Given the description of an element on the screen output the (x, y) to click on. 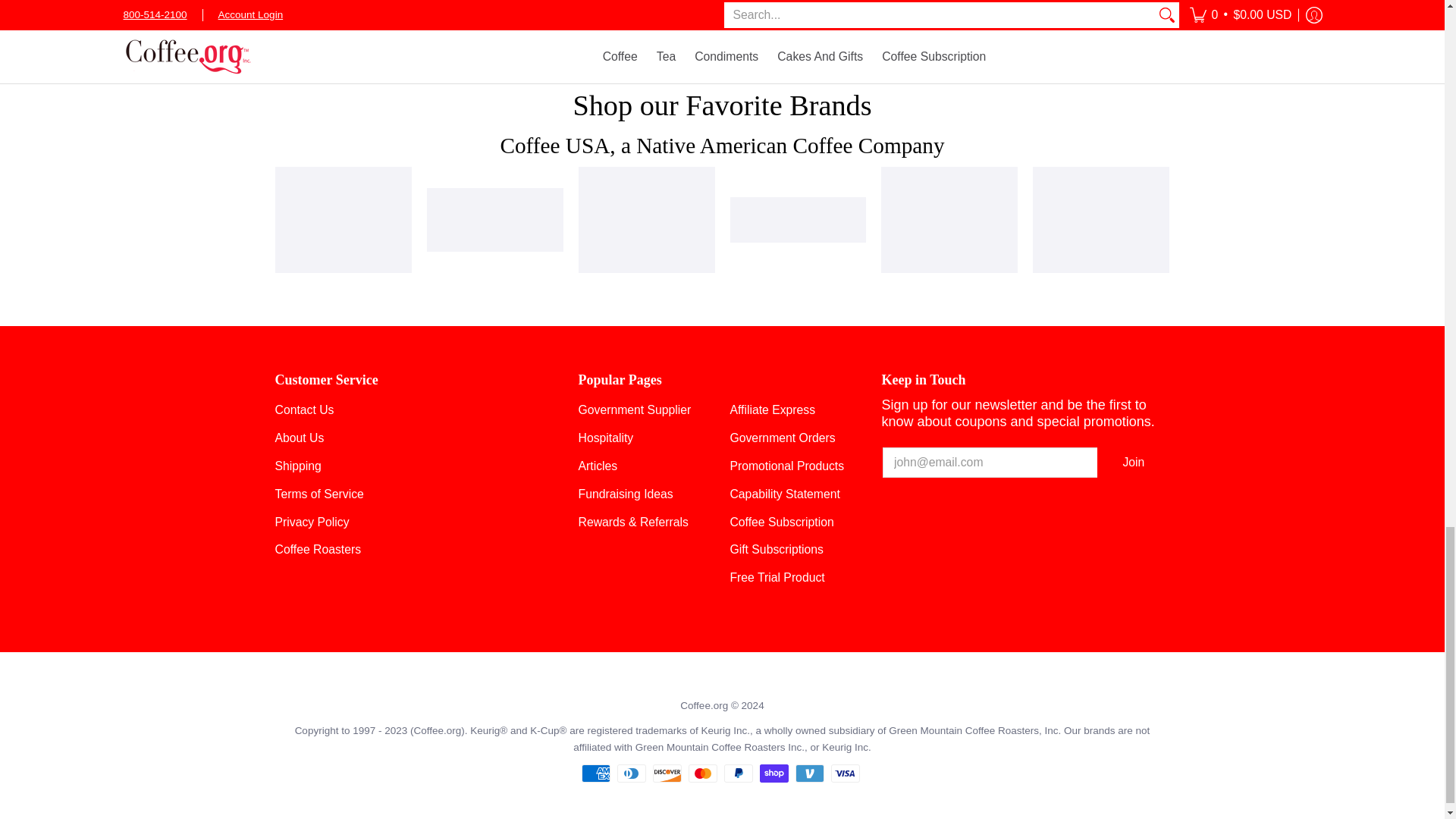
PayPal (737, 773)
Venmo (809, 773)
Mastercard (702, 773)
American Express (595, 773)
Discover (666, 773)
Diners Club (631, 773)
Shop Pay (774, 773)
Visa (845, 773)
